Given the description of an element on the screen output the (x, y) to click on. 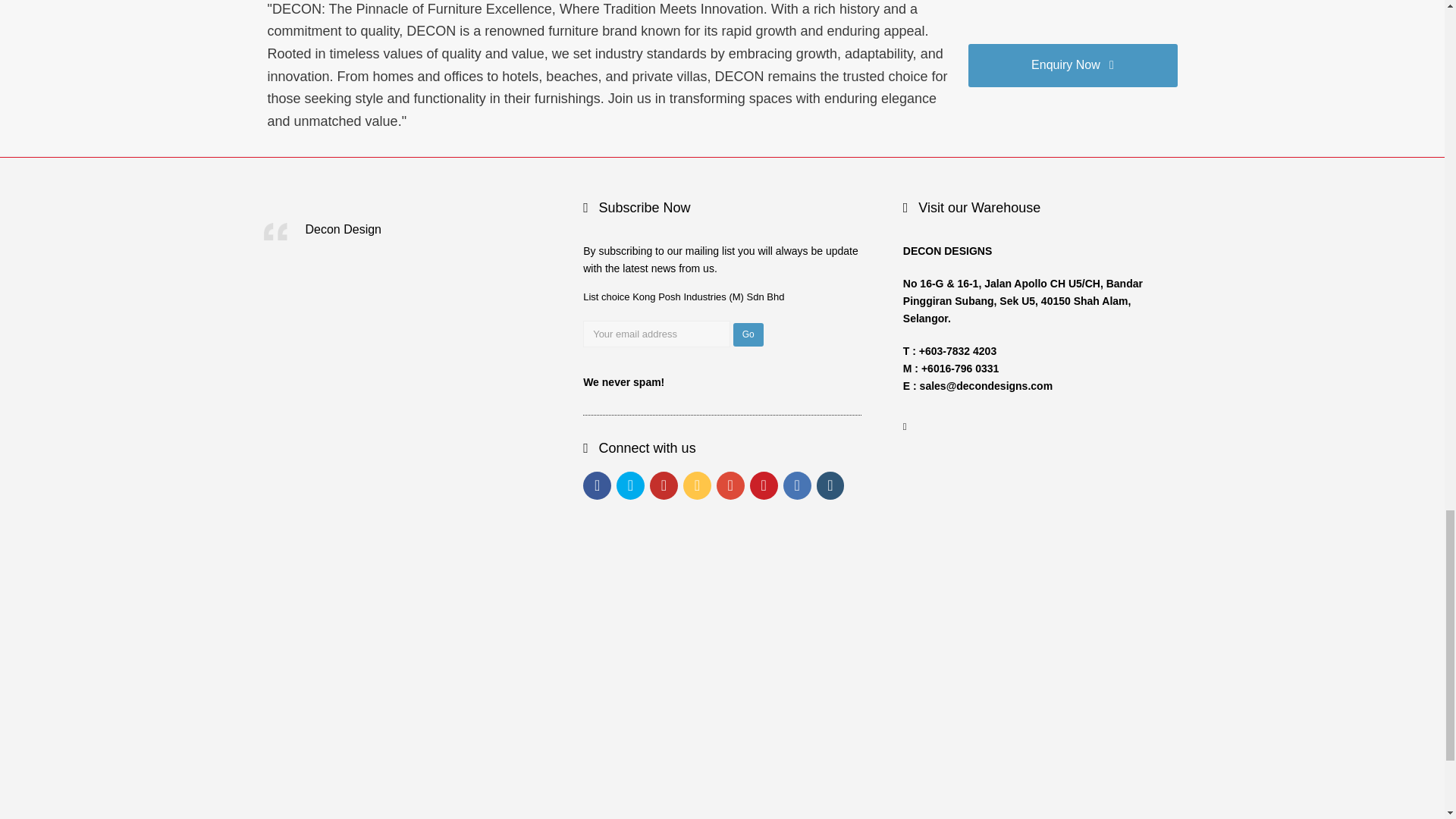
Go (747, 334)
Enquiry Now (1072, 65)
